Given the description of an element on the screen output the (x, y) to click on. 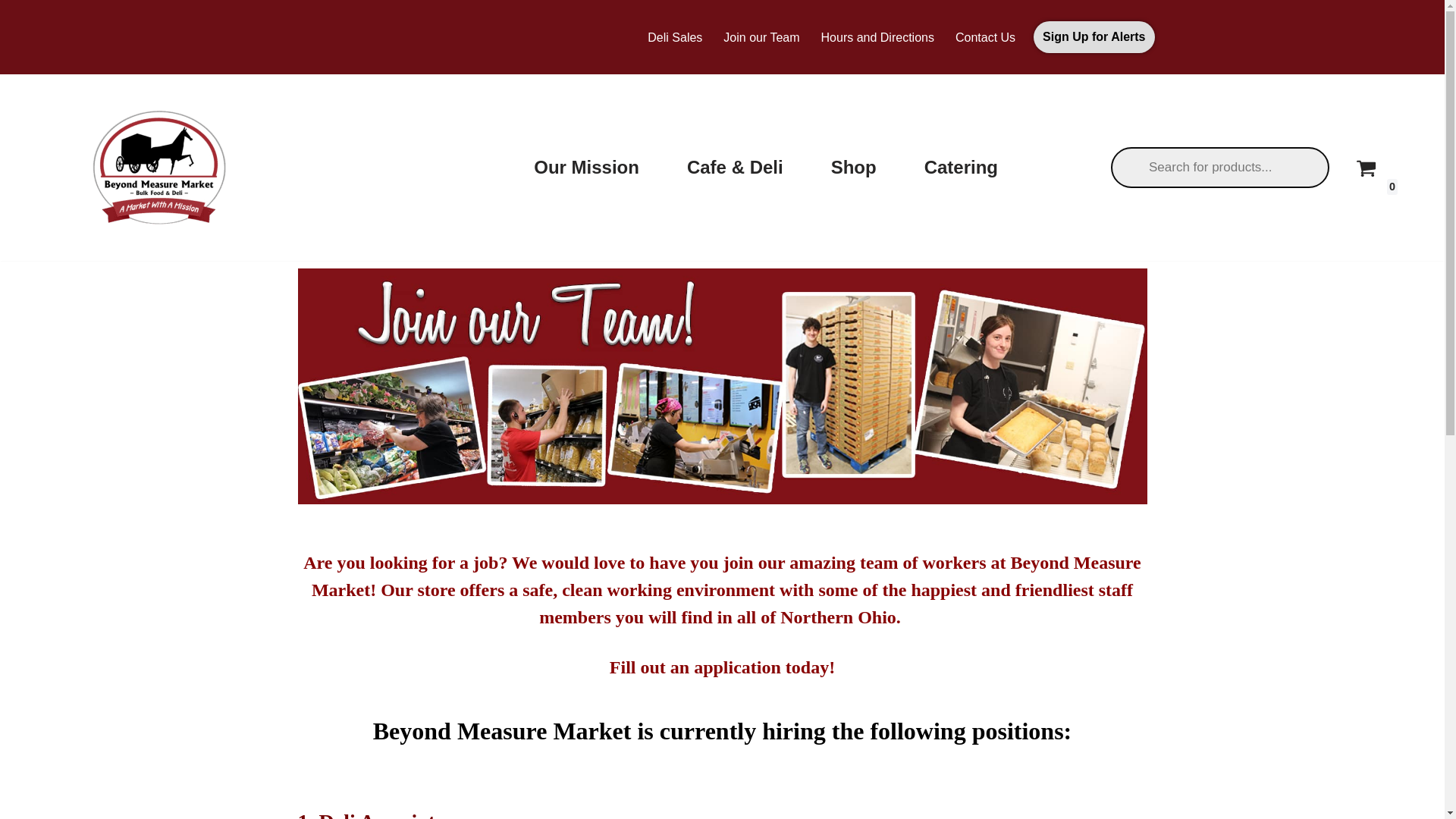
Shop (853, 166)
0 (1365, 168)
Our Mission (586, 166)
Catering (960, 166)
Contact Us (984, 37)
Join our Team (761, 37)
Skip to content (11, 31)
Hours and Directions (877, 37)
Sign Up for Alerts (1093, 37)
Deli Sales (674, 37)
